Given the description of an element on the screen output the (x, y) to click on. 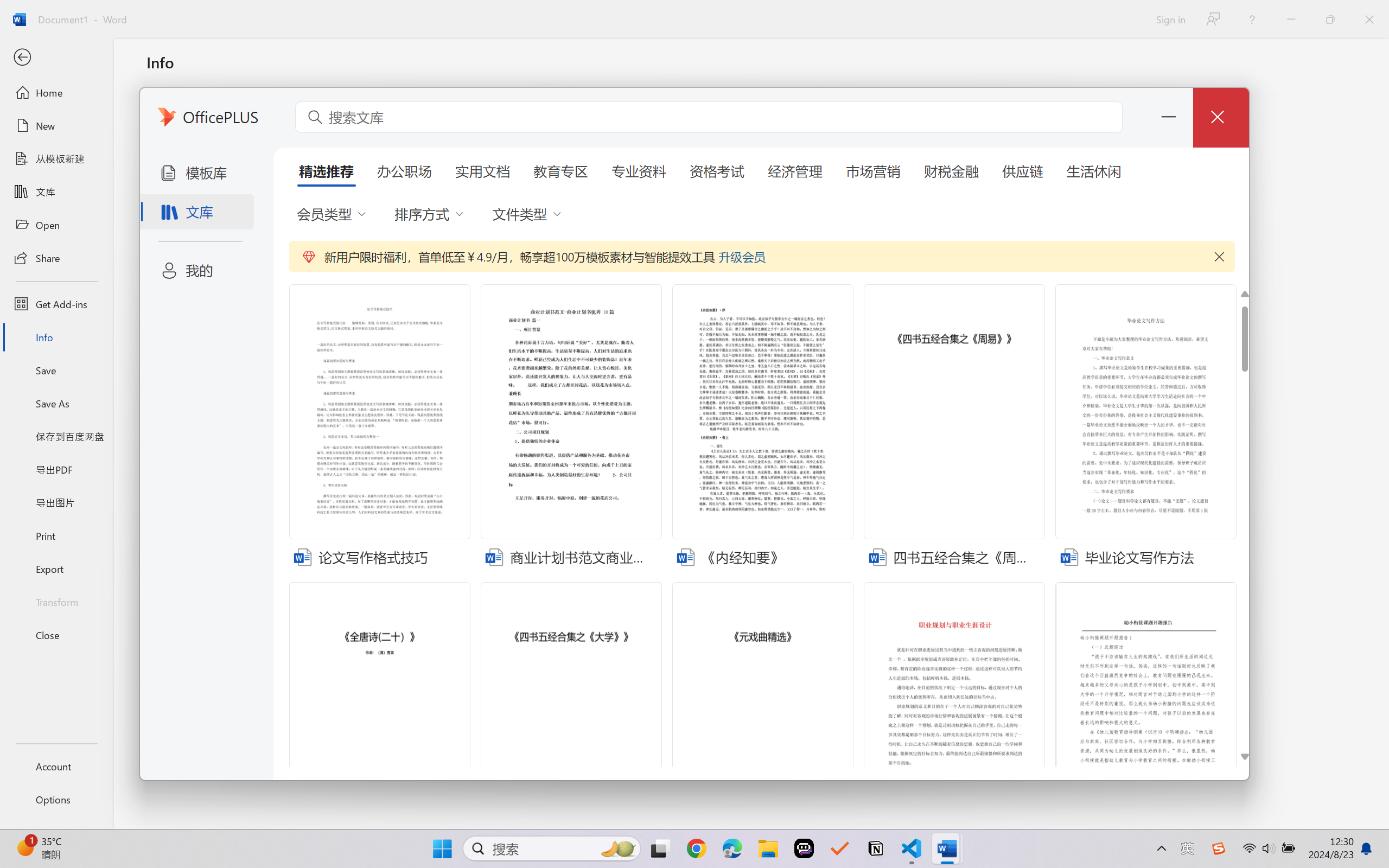
Microsoft Edge (731, 848)
Export (56, 568)
